Given the description of an element on the screen output the (x, y) to click on. 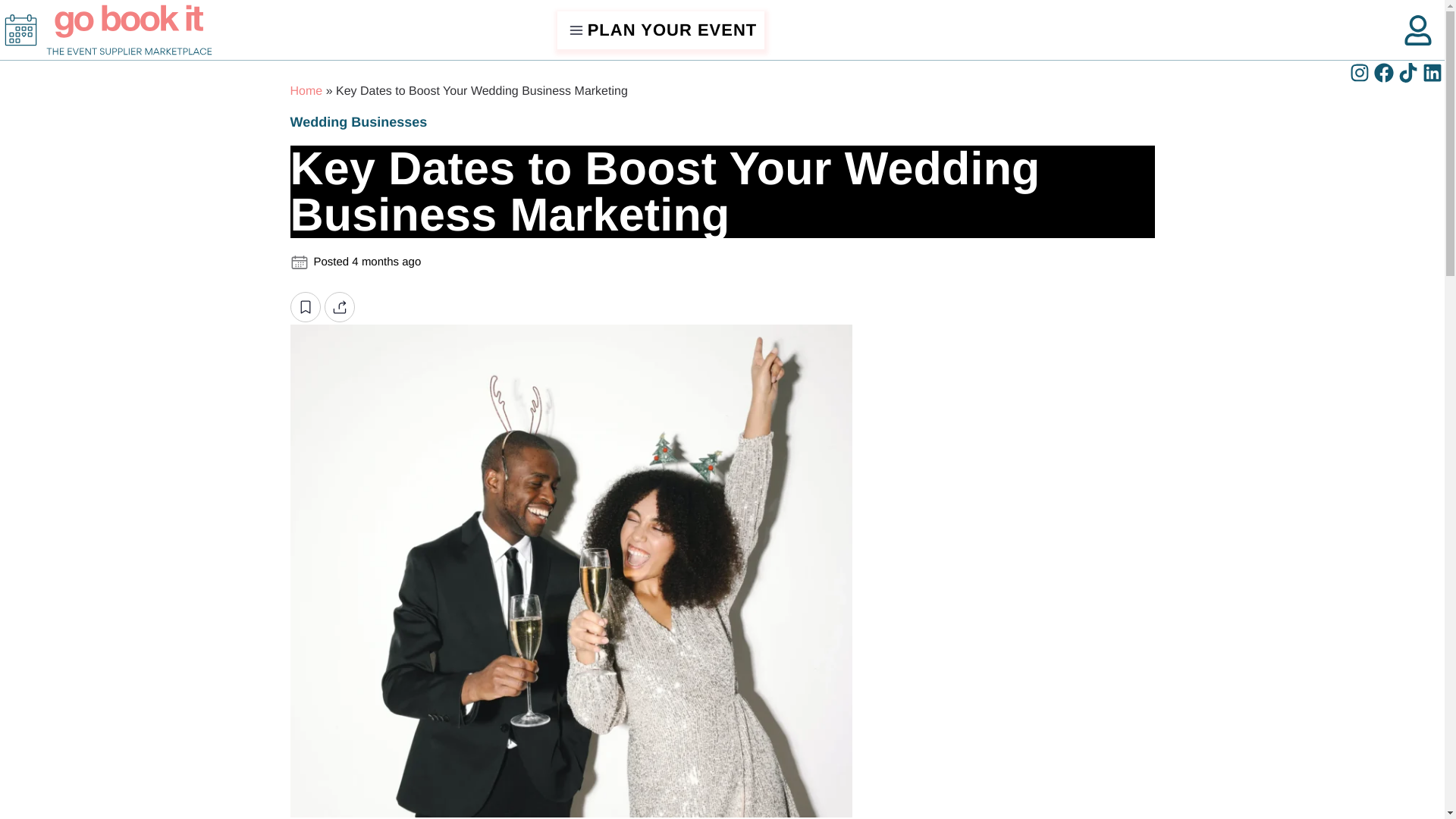
PLAN YOUR EVENT (661, 30)
